Given the description of an element on the screen output the (x, y) to click on. 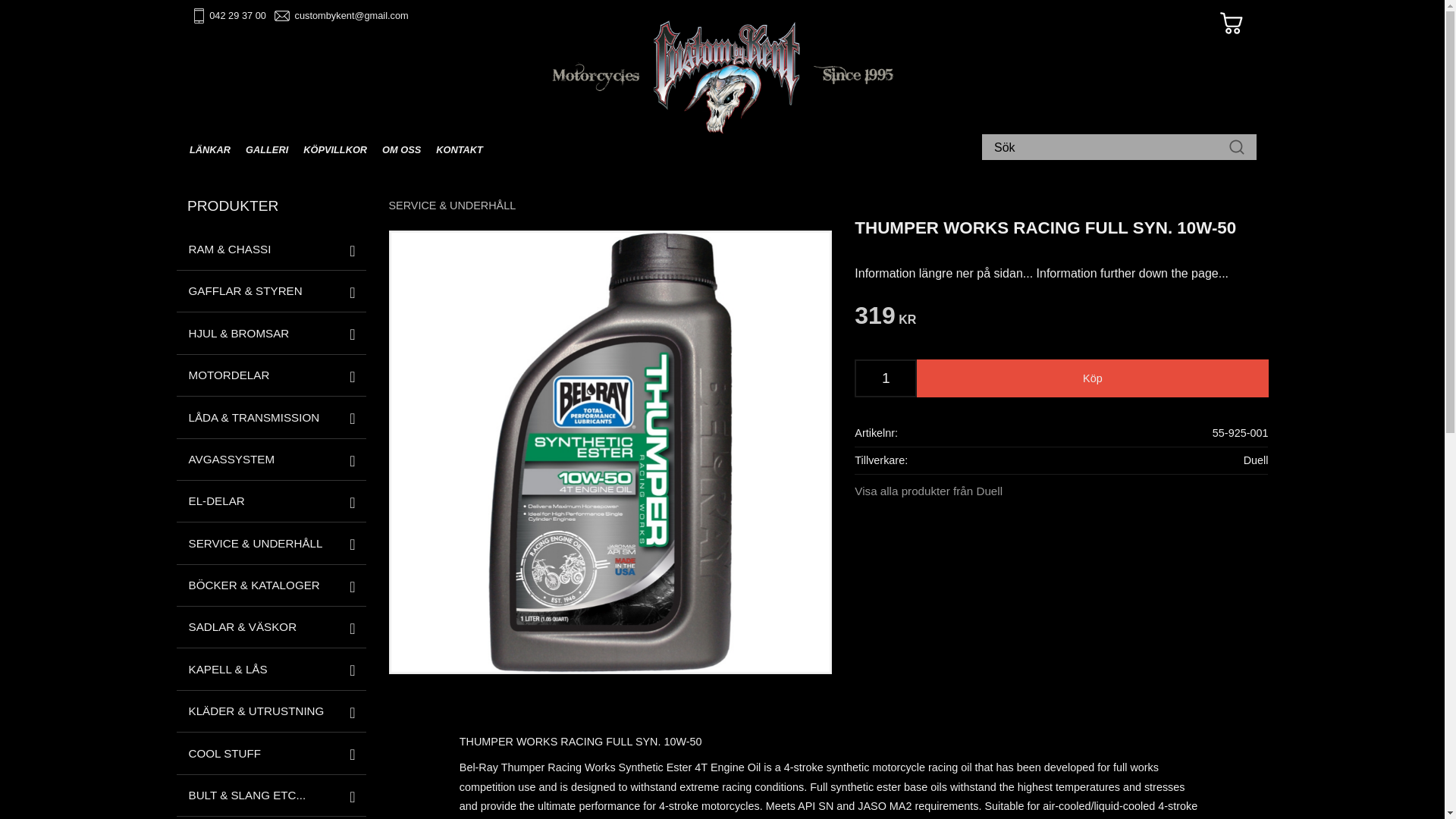
Galleri (266, 150)
1 (884, 378)
Duell (1255, 460)
Motordelar (270, 375)
GALLERI (266, 150)
MOTORDELAR (270, 375)
Om oss (401, 150)
KONTAKT (455, 150)
EL-DELAR (270, 501)
COOL STUFF (270, 752)
Avgassystem (270, 459)
OM OSS (401, 150)
042 29 37 00 (237, 15)
El-delar (270, 501)
Kontakt (455, 150)
